Given the description of an element on the screen output the (x, y) to click on. 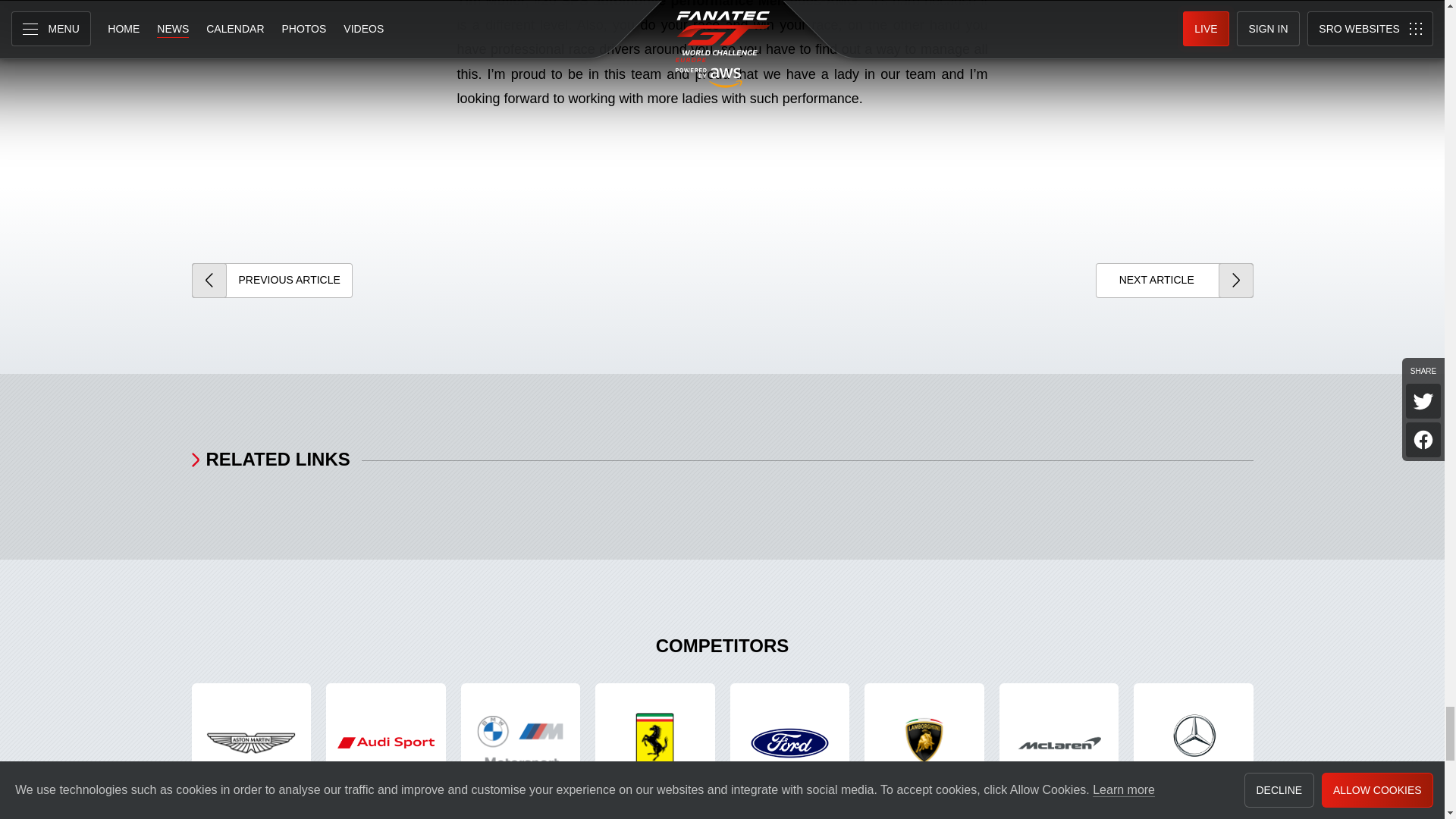
Mercedes-AMG (1193, 743)
McLaren (1058, 743)
BMW (520, 743)
Aston Martin (250, 743)
Ford (788, 743)
Audi (385, 743)
Ferrari (654, 743)
Lamborghini (924, 743)
